Given the description of an element on the screen output the (x, y) to click on. 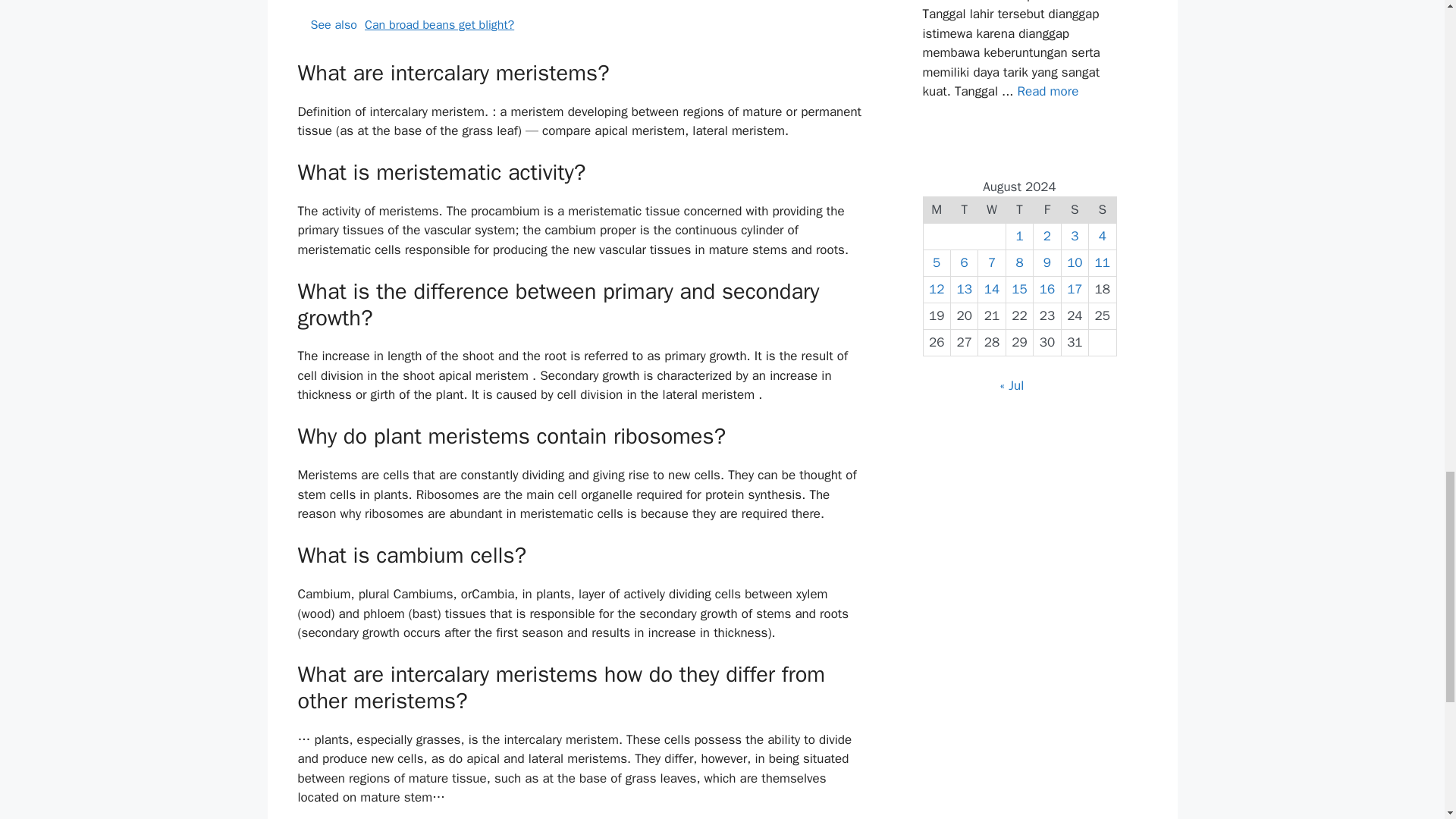
Thursday (1019, 210)
Wednesday (992, 210)
See also  Can broad beans get blight? (579, 24)
Monday (936, 210)
Friday (1047, 210)
Tuesday (963, 210)
Saturday (1074, 210)
